Given the description of an element on the screen output the (x, y) to click on. 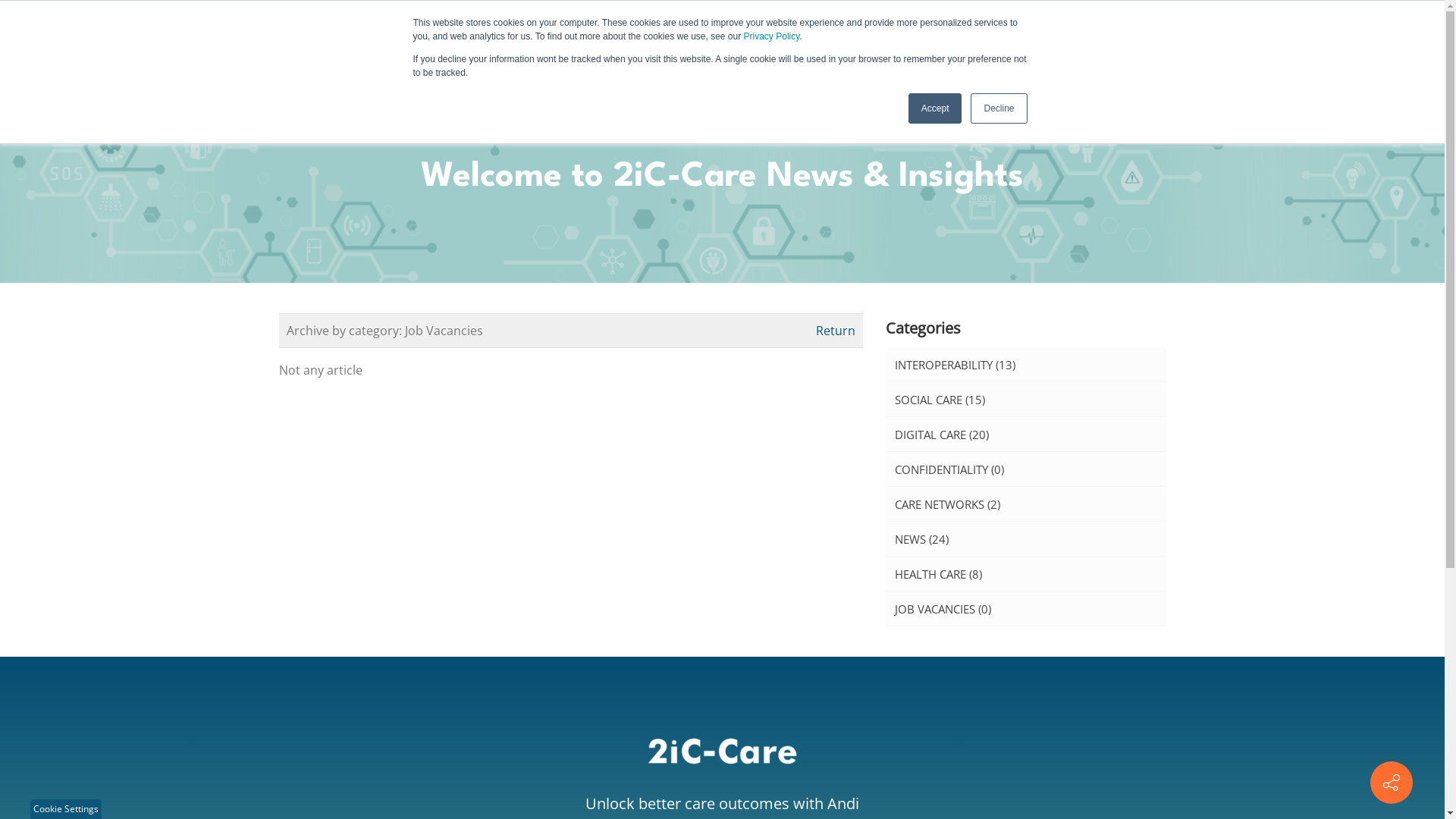
About Us Element type: text (827, 38)
SOCIAL CARE (15) Element type: text (1025, 399)
Accept Element type: text (935, 108)
Andi by 2iC-Care Element type: text (551, 38)
Case Studies & Guides Element type: text (700, 38)
Decline Element type: text (998, 108)
Return Element type: text (835, 331)
DIGITAL CARE (20) Element type: text (1025, 434)
CARE NETWORKS (2) Element type: text (1025, 503)
HEALTH CARE (8) Element type: text (1025, 573)
NEWS (24) Element type: text (1025, 538)
JOB VACANCIES (0) Element type: text (1025, 608)
News Element type: text (1057, 38)
INTEROPERABILITY (13) Element type: text (1025, 364)
CONFIDENTIALITY (0) Element type: text (1025, 468)
Home Element type: text (454, 38)
Privacy Policy Element type: text (771, 36)
Who We Work With Element type: text (948, 38)
2ic-care Element type: hover (148, 37)
Talk to Us Element type: text (1140, 38)
